Given the description of an element on the screen output the (x, y) to click on. 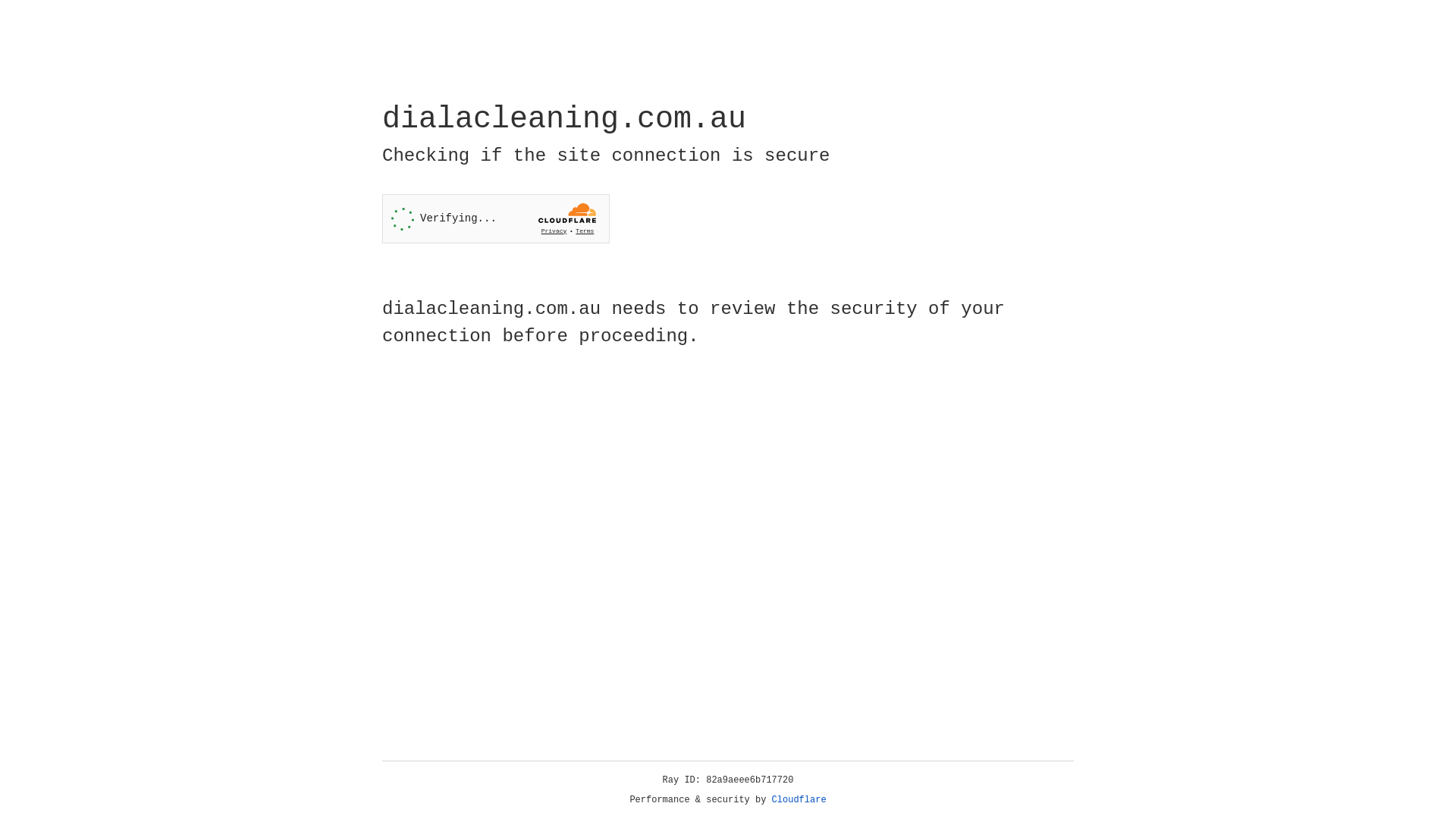
Widget containing a Cloudflare security challenge Element type: hover (495, 218)
Cloudflare Element type: text (798, 799)
